Given the description of an element on the screen output the (x, y) to click on. 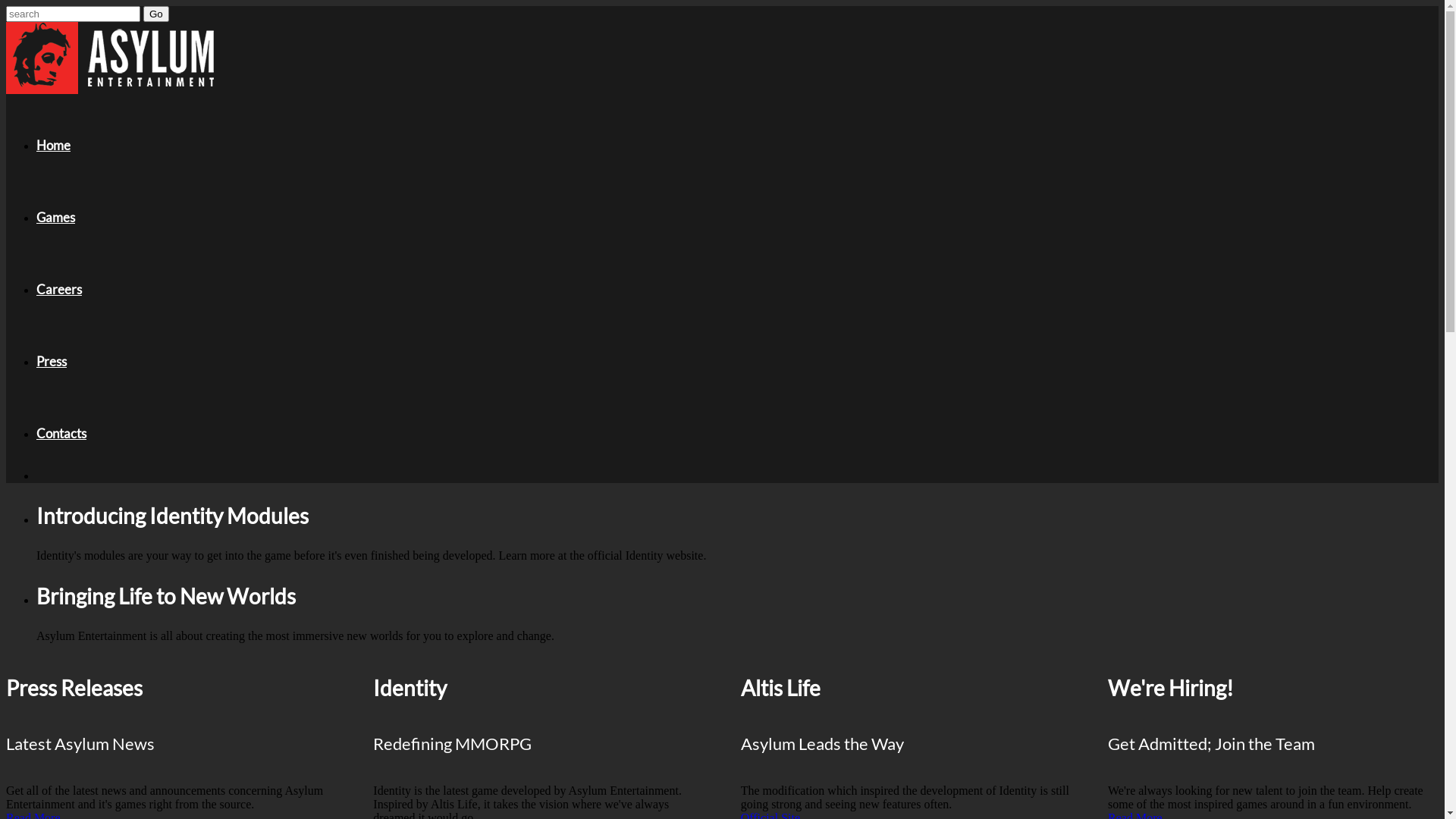
Games Element type: text (55, 217)
Press Element type: text (51, 361)
Careers Element type: text (58, 289)
Contacts Element type: text (61, 433)
Home Element type: text (53, 145)
Go Element type: text (156, 13)
